Given the description of an element on the screen output the (x, y) to click on. 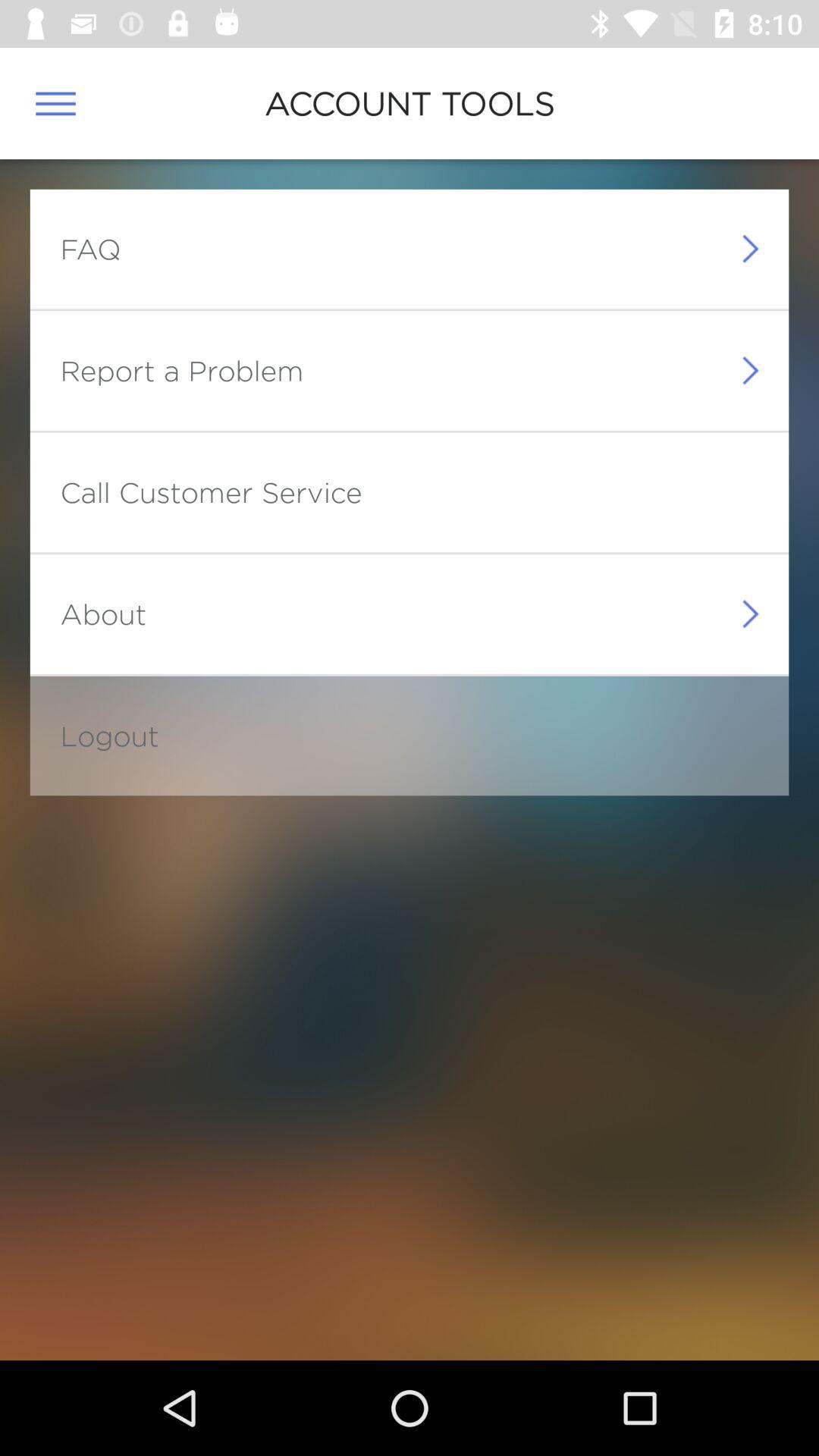
turn off the app above faq (55, 103)
